Given the description of an element on the screen output the (x, y) to click on. 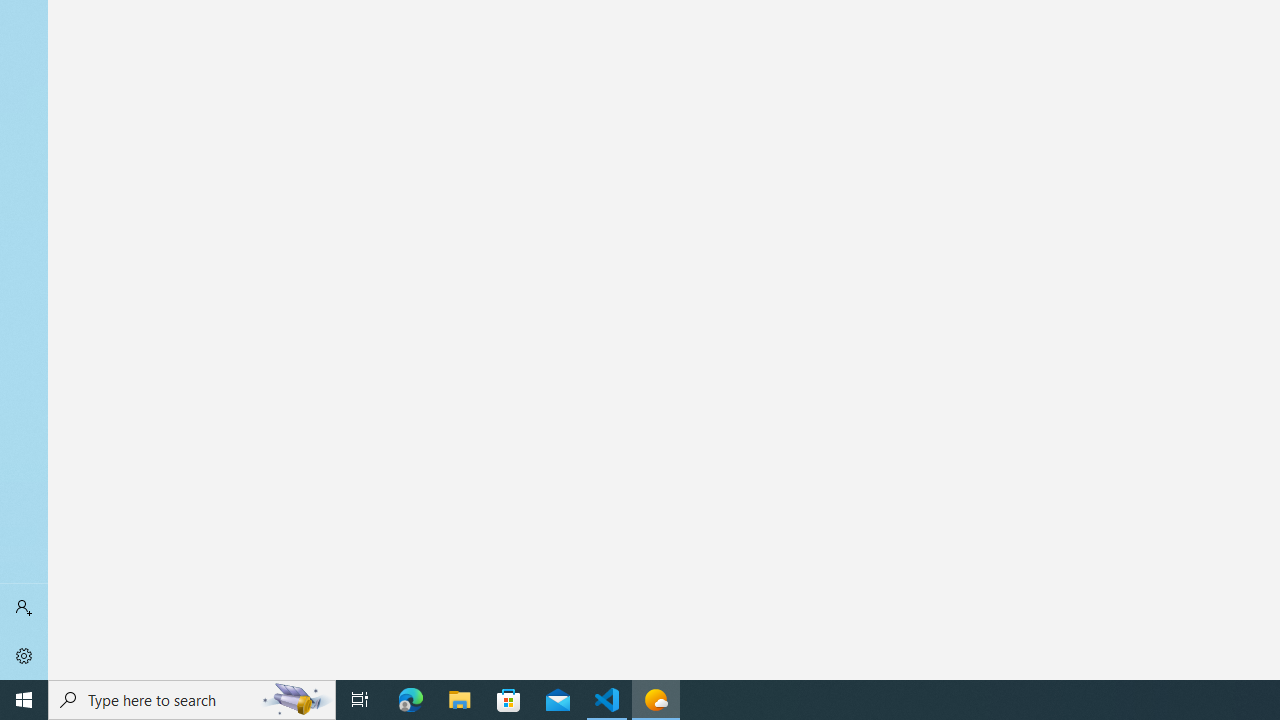
Settings (24, 655)
File Explorer (460, 699)
Start (24, 699)
Task View (359, 699)
Sign in (24, 607)
Microsoft Edge (411, 699)
Search highlights icon opens search home window (295, 699)
Type here to search (191, 699)
Weather - 1 running window (656, 699)
Microsoft Store (509, 699)
Visual Studio Code - 1 running window (607, 699)
